Given the description of an element on the screen output the (x, y) to click on. 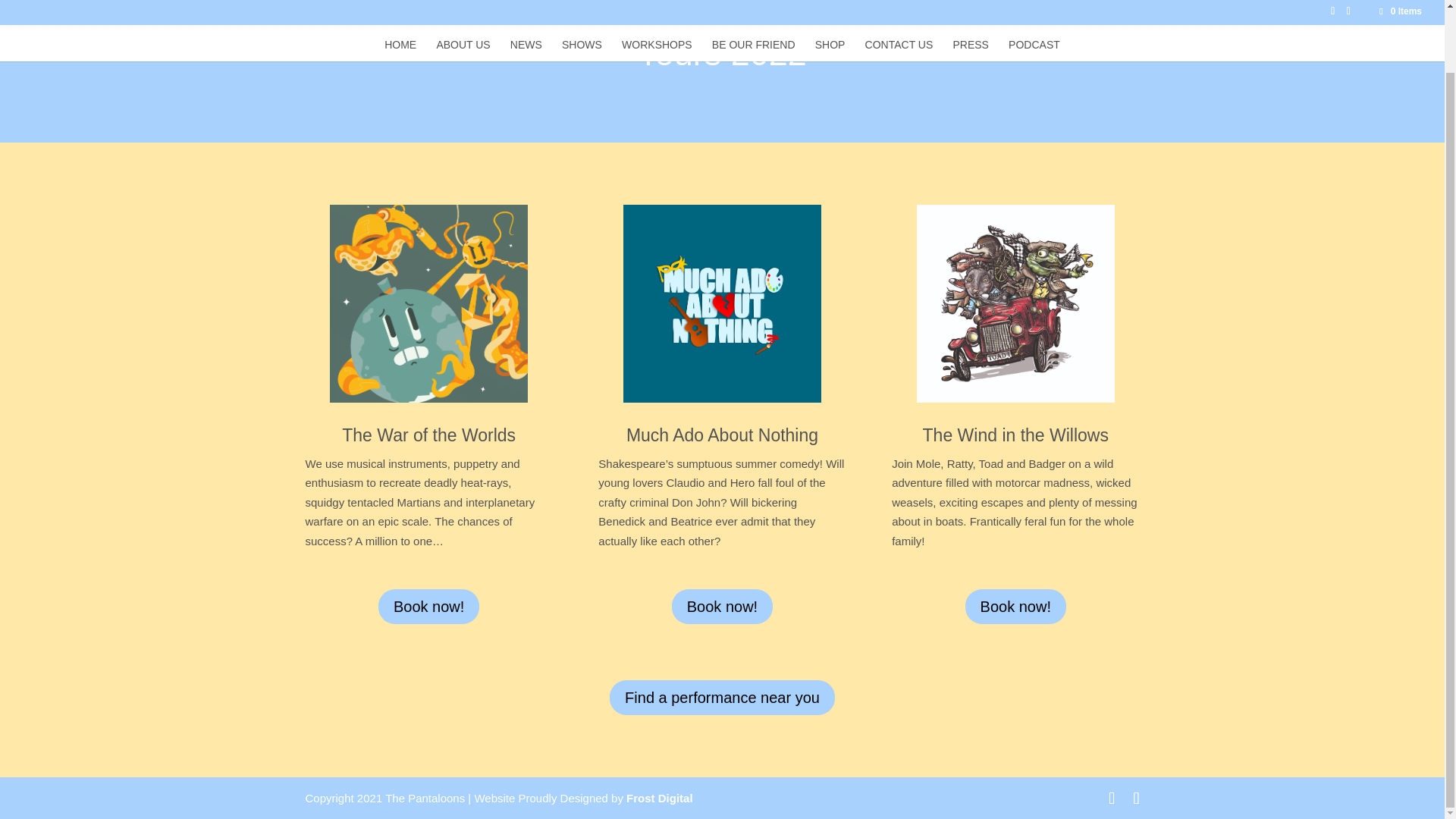
Book now! (722, 606)
Find a performance near you (722, 697)
Book now! (428, 606)
Book now! (1015, 606)
Frost Digital (659, 797)
